Given the description of an element on the screen output the (x, y) to click on. 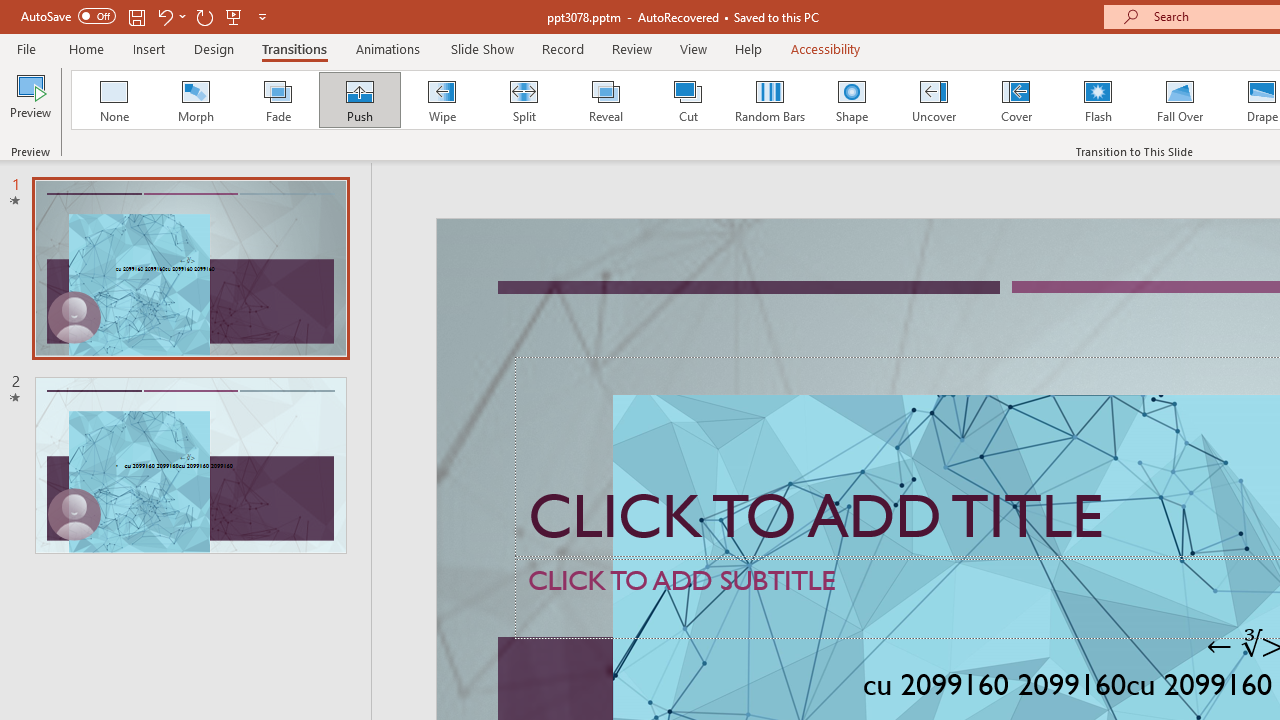
Uncover (934, 100)
Fade (277, 100)
Split (523, 100)
Push (359, 100)
Shape (852, 100)
